Given the description of an element on the screen output the (x, y) to click on. 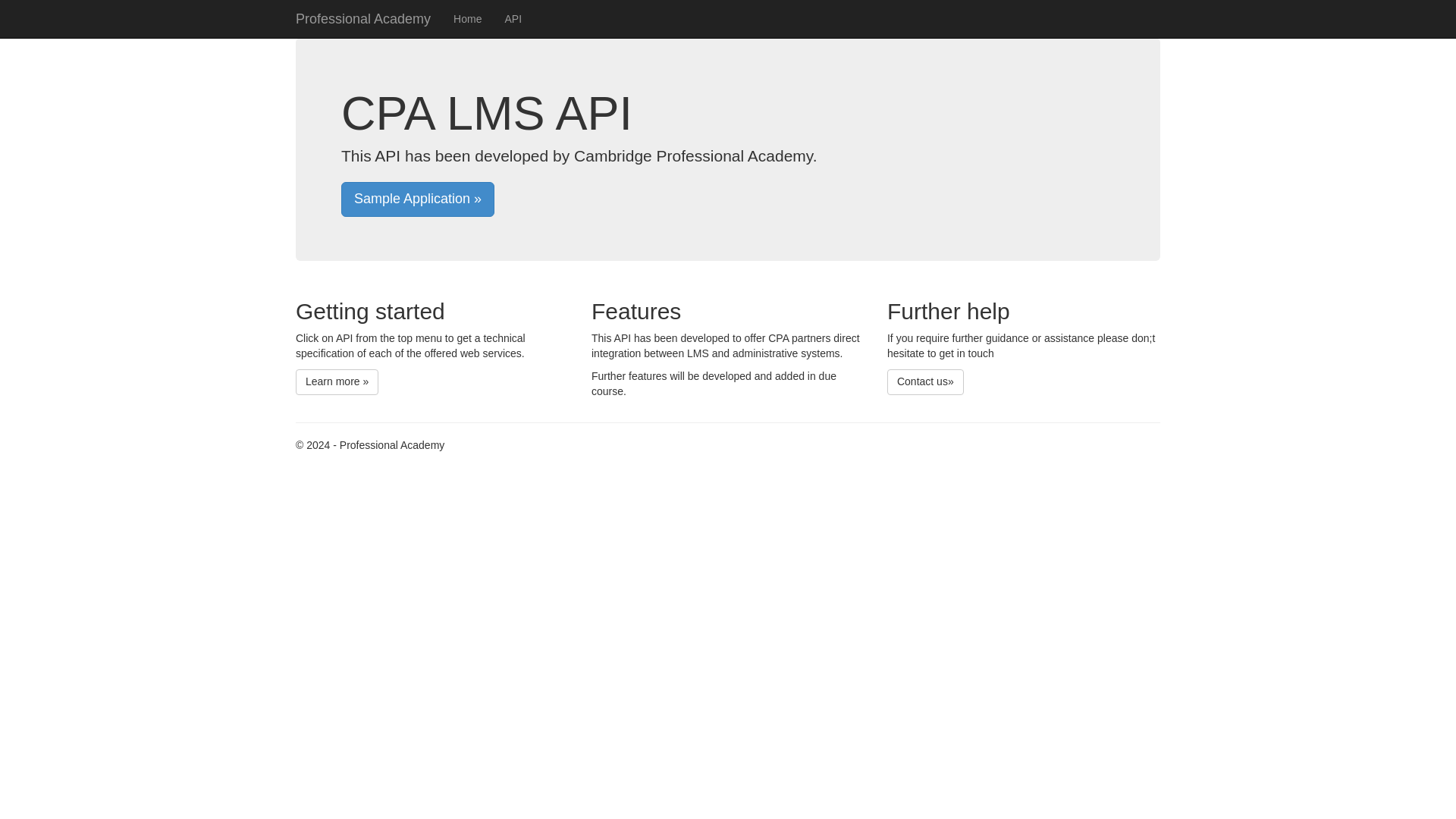
API (512, 18)
Home (467, 18)
Professional Academy (362, 18)
